Given the description of an element on the screen output the (x, y) to click on. 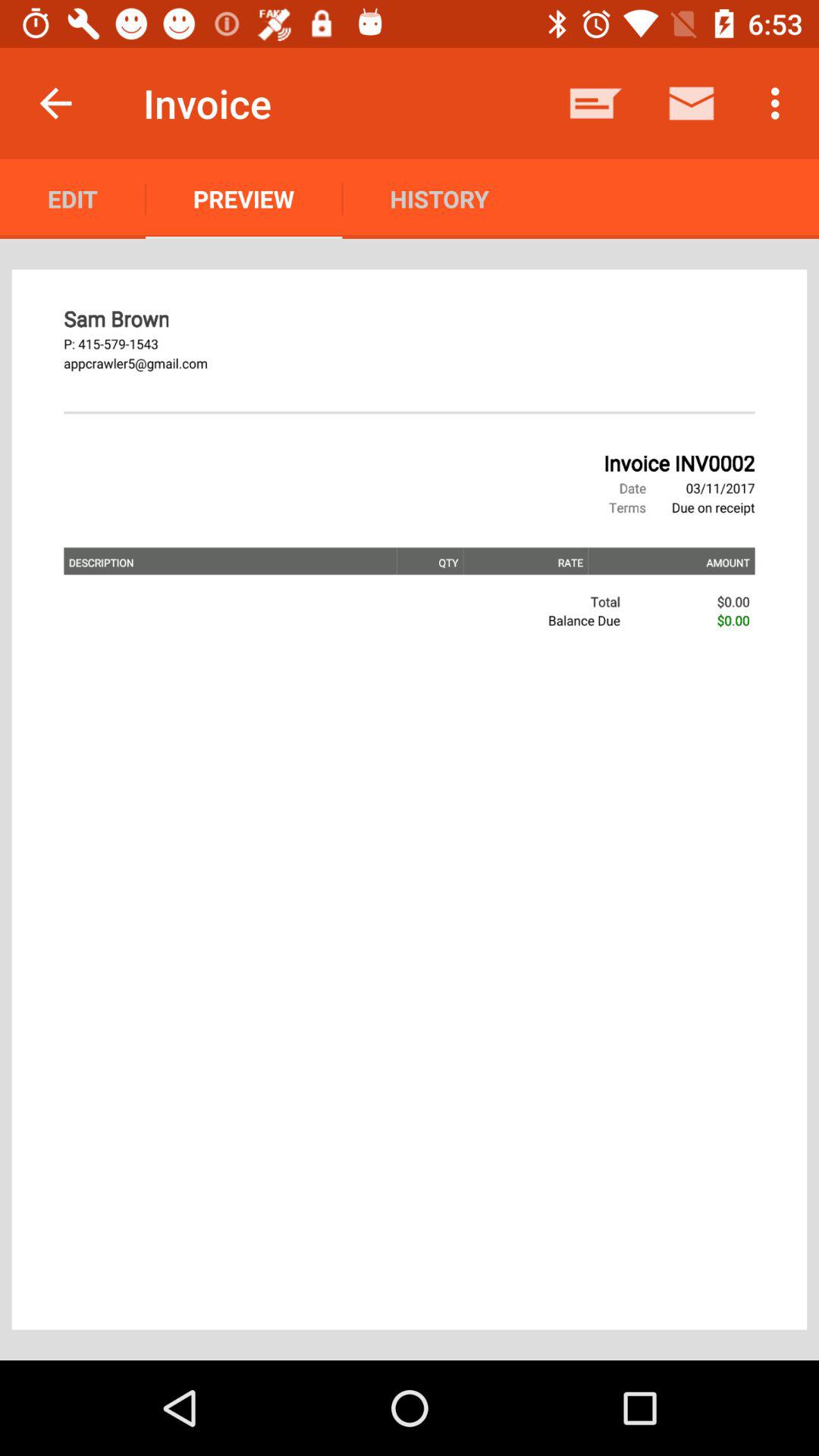
select icon to the left of the invoice icon (55, 103)
